Given the description of an element on the screen output the (x, y) to click on. 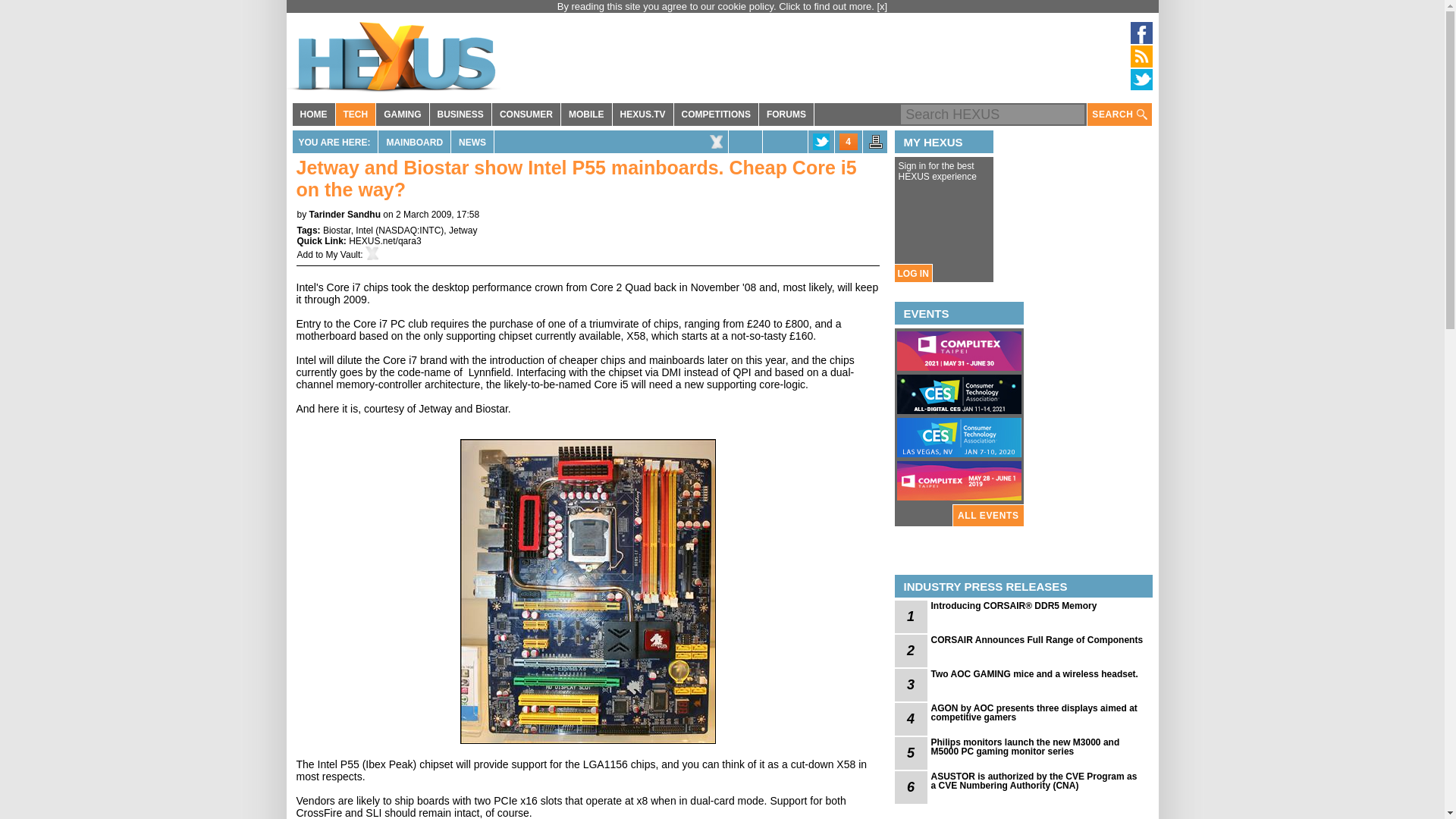
MAINBOARD (413, 141)
MOBILE (585, 114)
My Vault (343, 254)
TECH (354, 114)
Jetway (462, 230)
FORUMS (785, 114)
Printer Friendly Layout (875, 146)
CONSUMER (526, 114)
HEXUS.TV (642, 114)
